Given the description of an element on the screen output the (x, y) to click on. 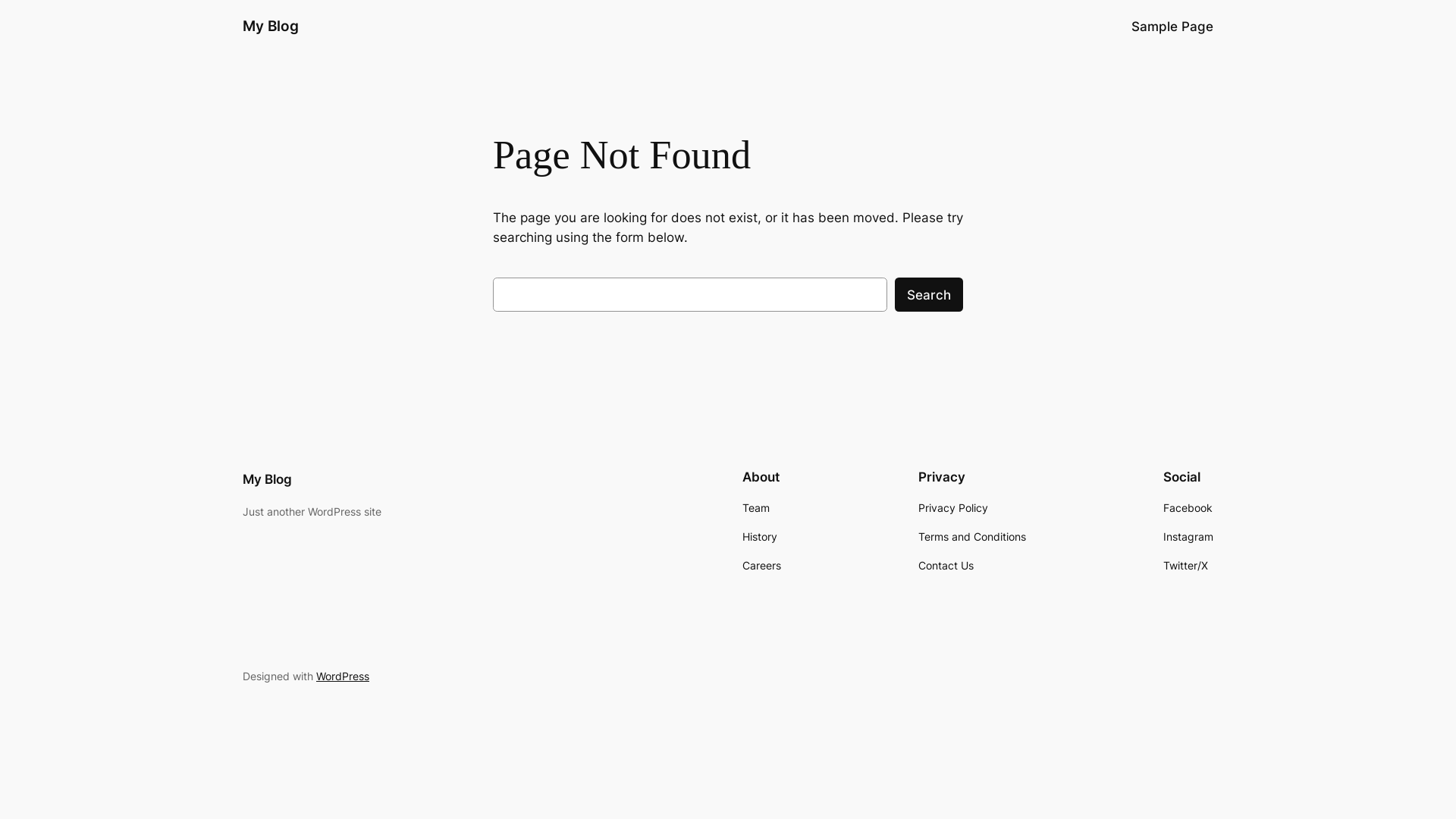
Search Element type: text (928, 294)
Facebook Element type: text (1187, 507)
Contact Us Element type: text (945, 565)
Team Element type: text (755, 507)
Careers Element type: text (761, 565)
Twitter/X Element type: text (1185, 565)
My Blog Element type: text (266, 478)
Sample Page Element type: text (1172, 26)
My Blog Element type: text (270, 25)
History Element type: text (759, 536)
Terms and Conditions Element type: text (972, 536)
Instagram Element type: text (1188, 536)
Privacy Policy Element type: text (953, 507)
WordPress Element type: text (342, 675)
